Given the description of an element on the screen output the (x, y) to click on. 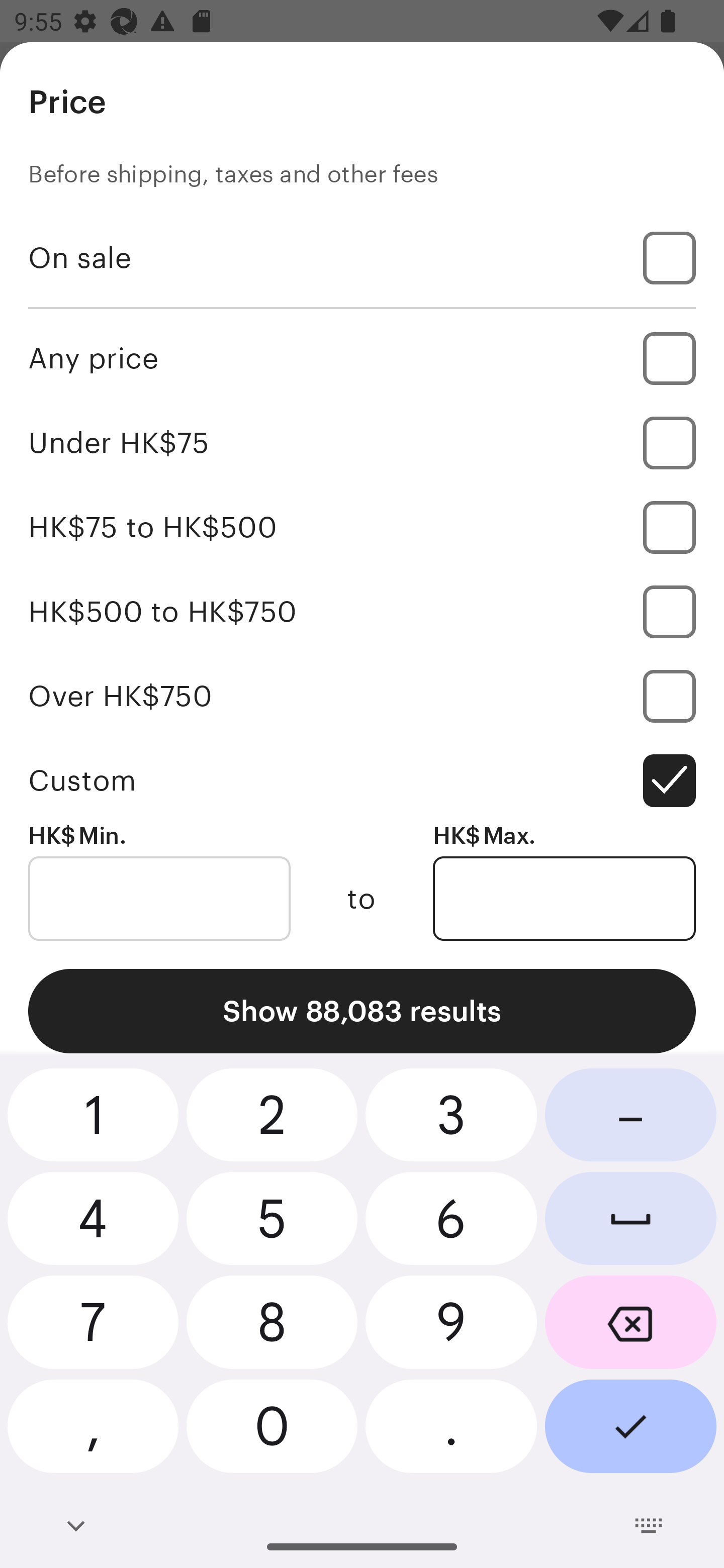
On sale (362, 257)
Any price (362, 357)
Under HK$75 (362, 441)
HK$75 to HK$500 (362, 526)
HK$500 to HK$750 (362, 611)
Over HK$750 (362, 695)
Custom (362, 780)
Show 88,083 results (361, 1011)
